Given the description of an element on the screen output the (x, y) to click on. 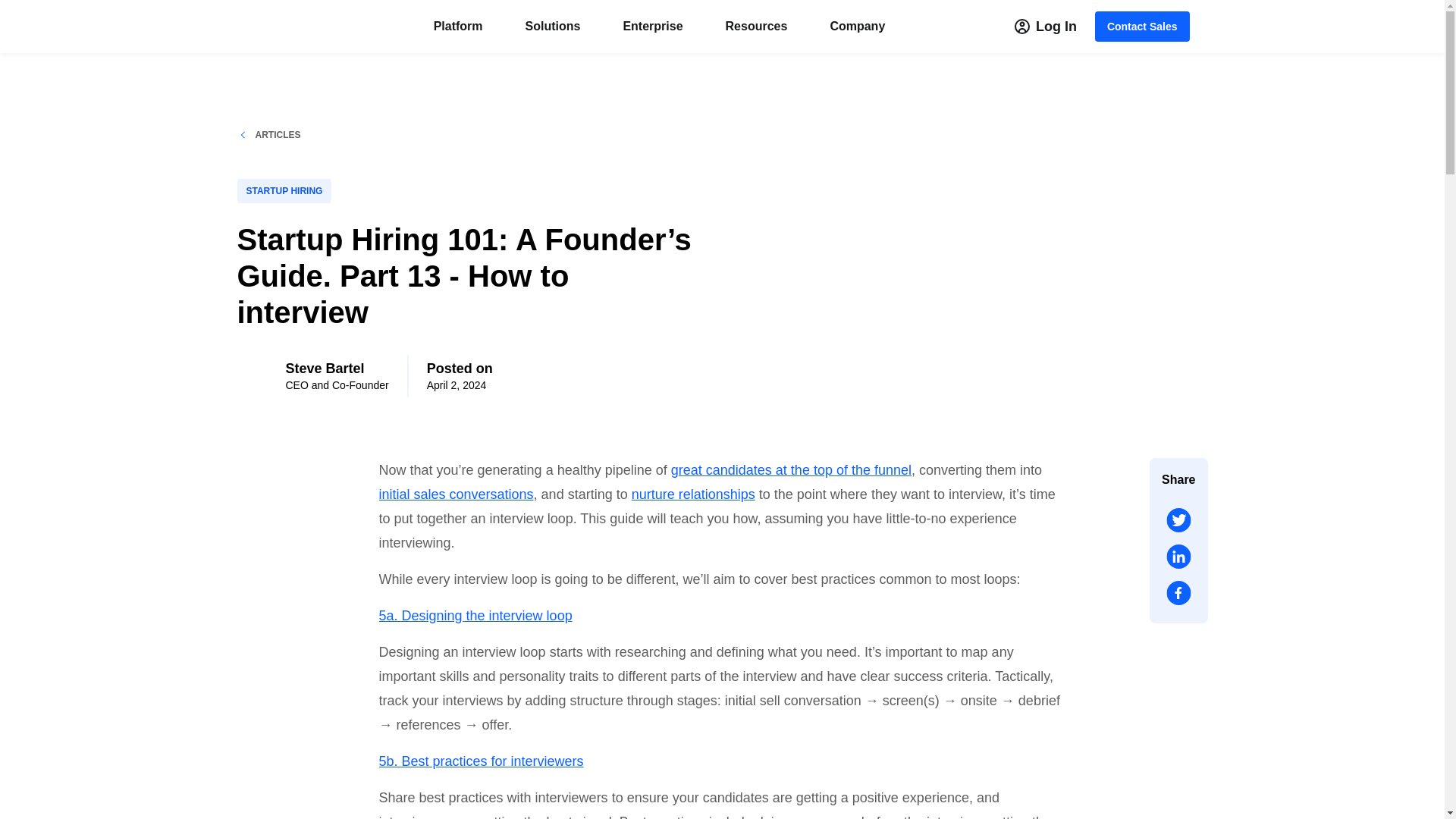
great candidates at the top of the funnel (791, 469)
Solutions (552, 26)
Enterprise (652, 25)
Company (857, 26)
nurture relationships (693, 494)
Platform (458, 26)
Log In (1045, 26)
Steve Bartel (336, 368)
Resources (756, 26)
5b. Best practices for interviewers (480, 761)
Contact Sales (1141, 26)
initial sales conversations (456, 494)
5a. Designing the interview loop (475, 615)
ARTICLES (470, 134)
